Given the description of an element on the screen output the (x, y) to click on. 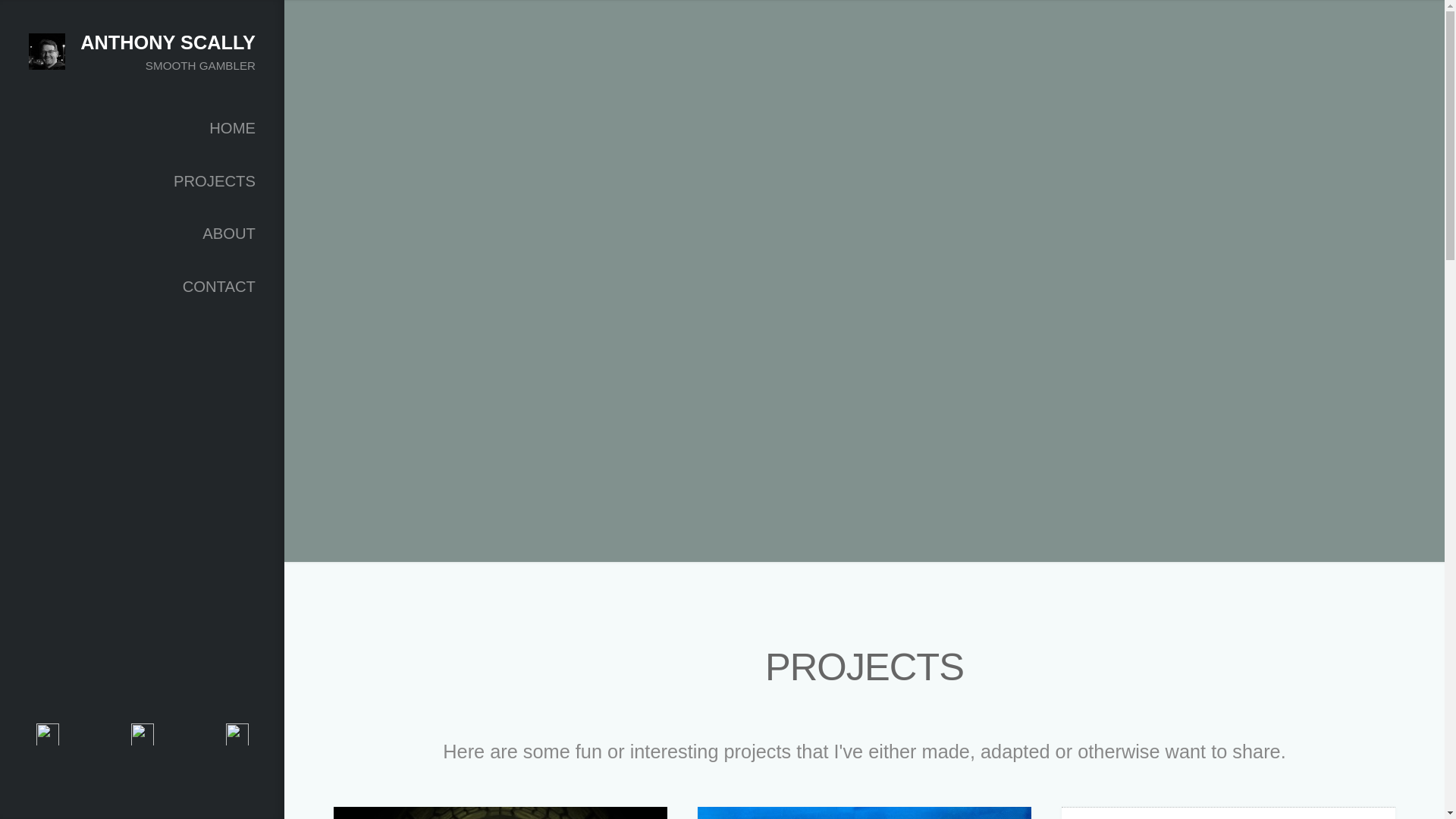
ABOUT (141, 234)
PROJECTS (141, 181)
HOME (141, 127)
CONTACT (141, 286)
